Given the description of an element on the screen output the (x, y) to click on. 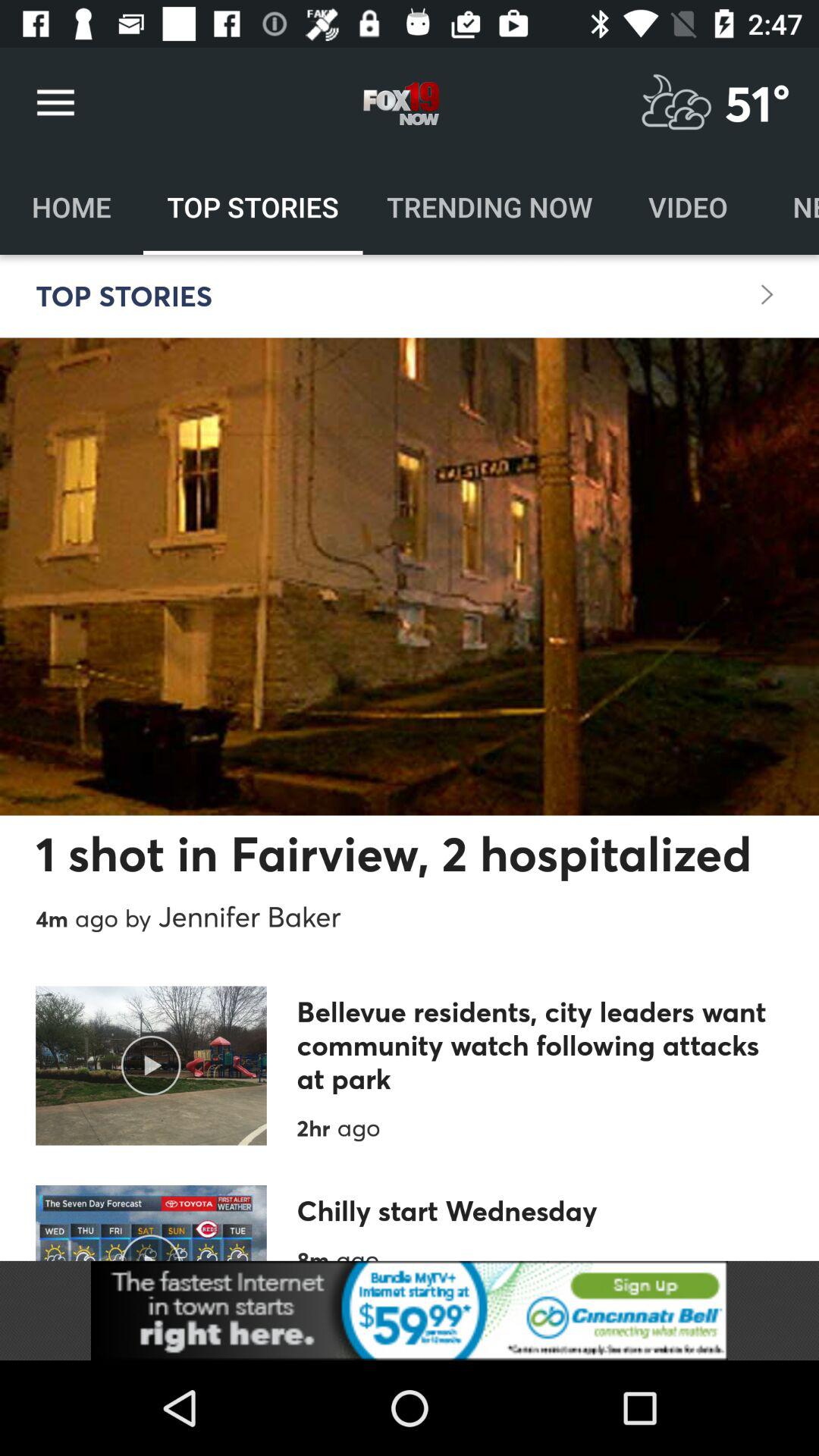
advertisement space (409, 1310)
